Given the description of an element on the screen output the (x, y) to click on. 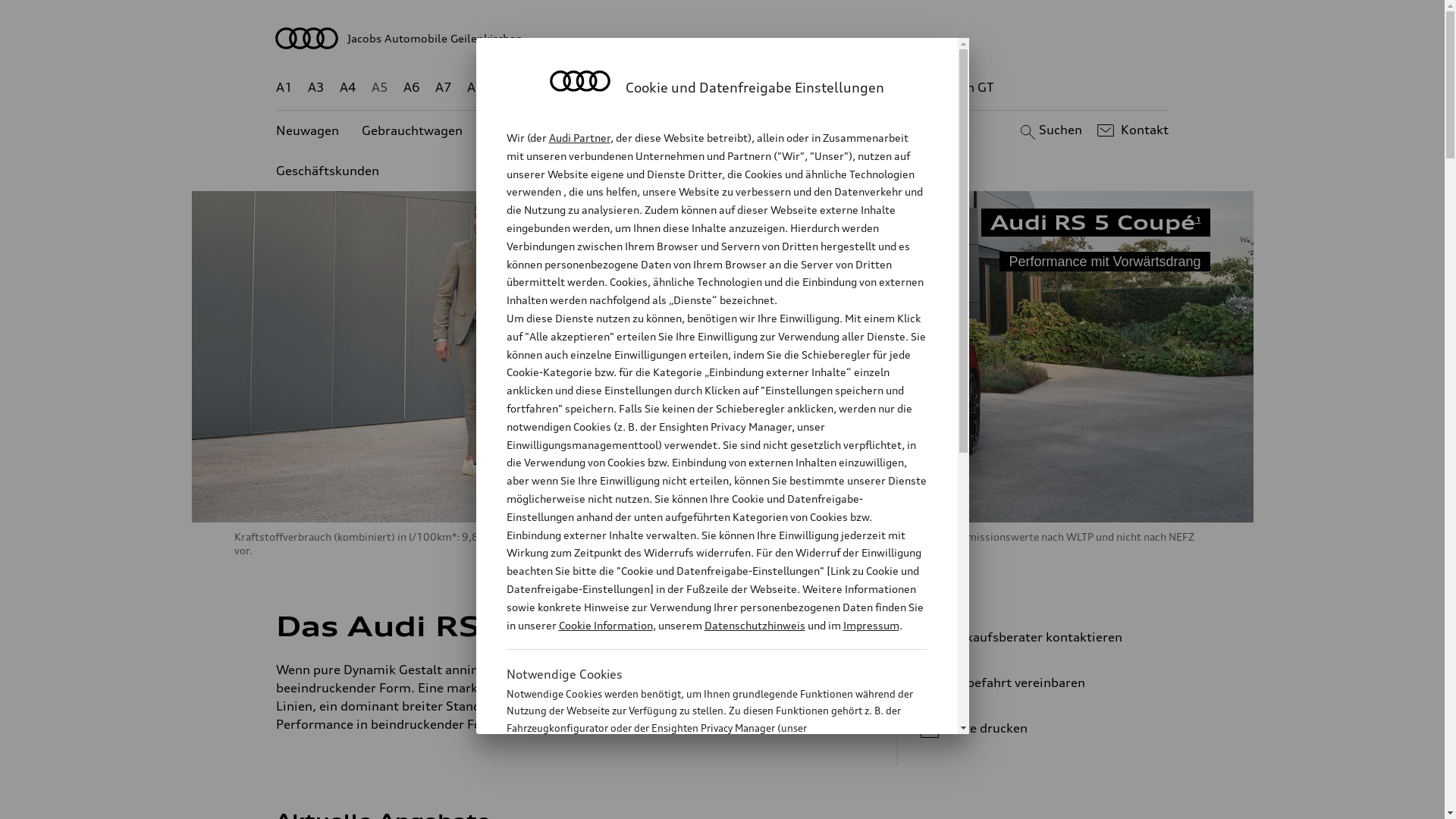
e-tron GT Element type: text (965, 87)
A3 Element type: text (315, 87)
RS Element type: text (861, 87)
Q4 e-tron Element type: text (592, 87)
Jacobs Automobile Geilenkirchen Element type: text (722, 38)
Q2 Element type: text (507, 87)
Q5 Element type: text (645, 87)
Angebote Element type: text (636, 130)
A7 Element type: text (443, 87)
g-tron Element type: text (903, 87)
Verkaufsberater kontaktieren Element type: text (1038, 636)
Cookie Information Element type: text (605, 624)
Suchen Element type: text (1049, 130)
A1 Element type: text (284, 87)
Cookie Information Element type: text (700, 802)
A5 Element type: text (379, 87)
Audi Partner Element type: text (579, 137)
Impressum Element type: text (871, 624)
Q8 Element type: text (710, 87)
Probefahrt vereinbaren Element type: text (1038, 682)
Q8 e-tron Element type: text (763, 87)
A8 Element type: text (475, 87)
Kontakt Element type: text (1130, 130)
Neuwagen Element type: text (307, 130)
Gebrauchtwagen Element type: text (411, 130)
Q3 Element type: text (540, 87)
Datenschutzhinweis Element type: text (753, 624)
A6 Element type: text (411, 87)
1 Element type: text (632, 665)
Q7 Element type: text (678, 87)
Audi on demand Element type: text (735, 130)
1 Element type: text (1198, 218)
Seite drucken Element type: text (1044, 727)
A4 Element type: text (347, 87)
Kundenservice Element type: text (850, 130)
1 Element type: text (630, 622)
TT Element type: text (814, 87)
